Given the description of an element on the screen output the (x, y) to click on. 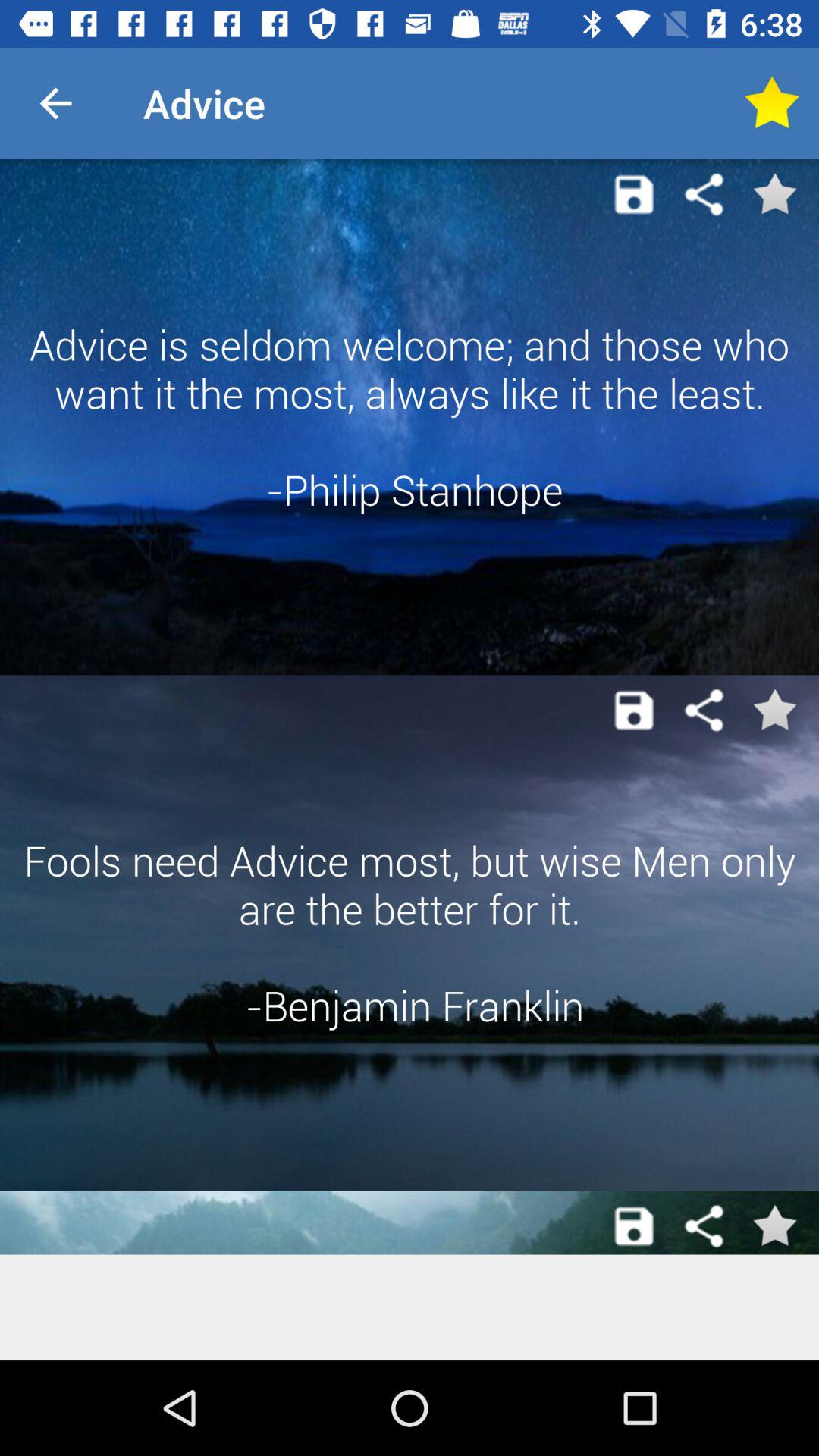
like/save (771, 103)
